Given the description of an element on the screen output the (x, y) to click on. 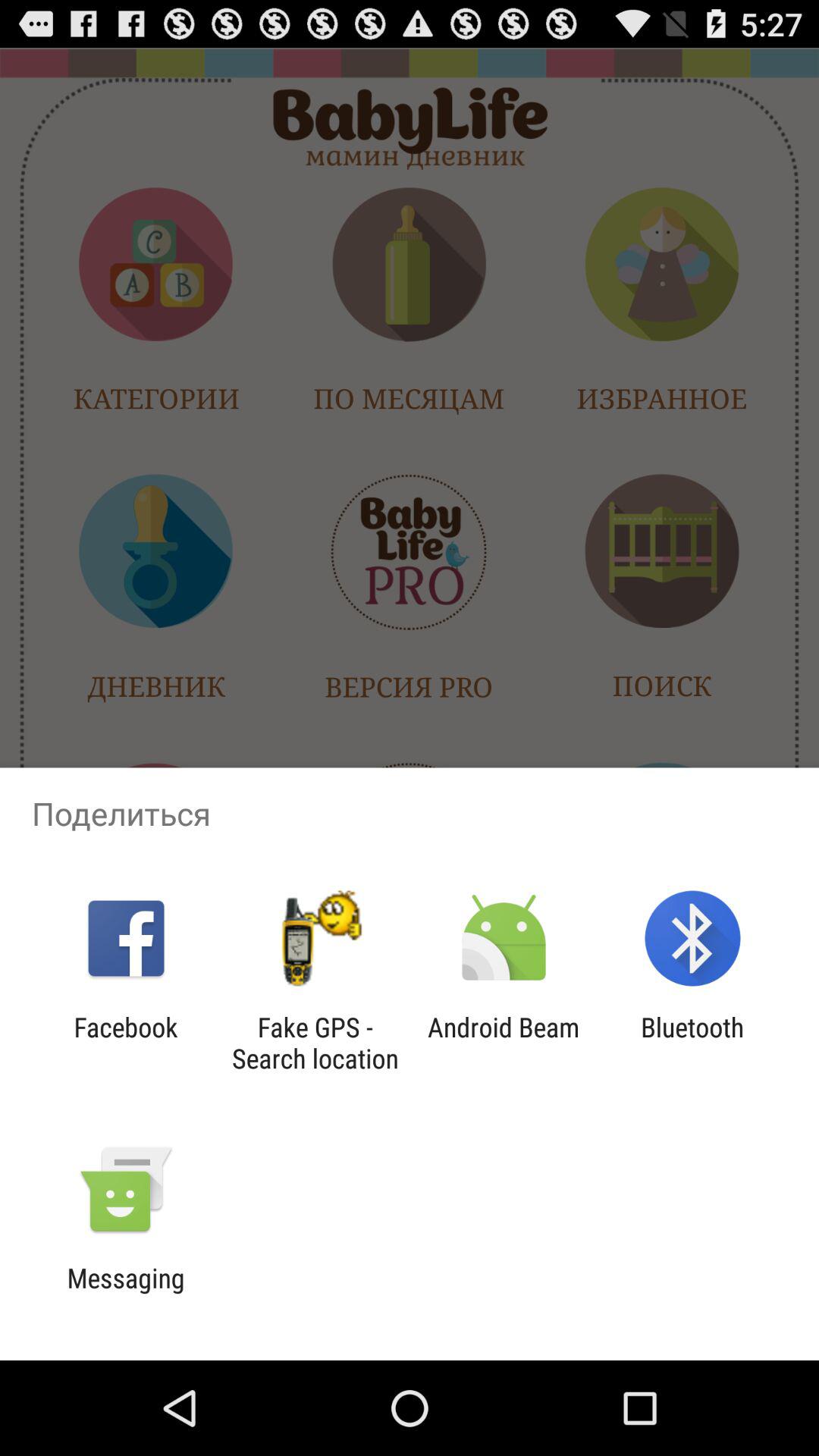
turn off item next to bluetooth item (503, 1042)
